Given the description of an element on the screen output the (x, y) to click on. 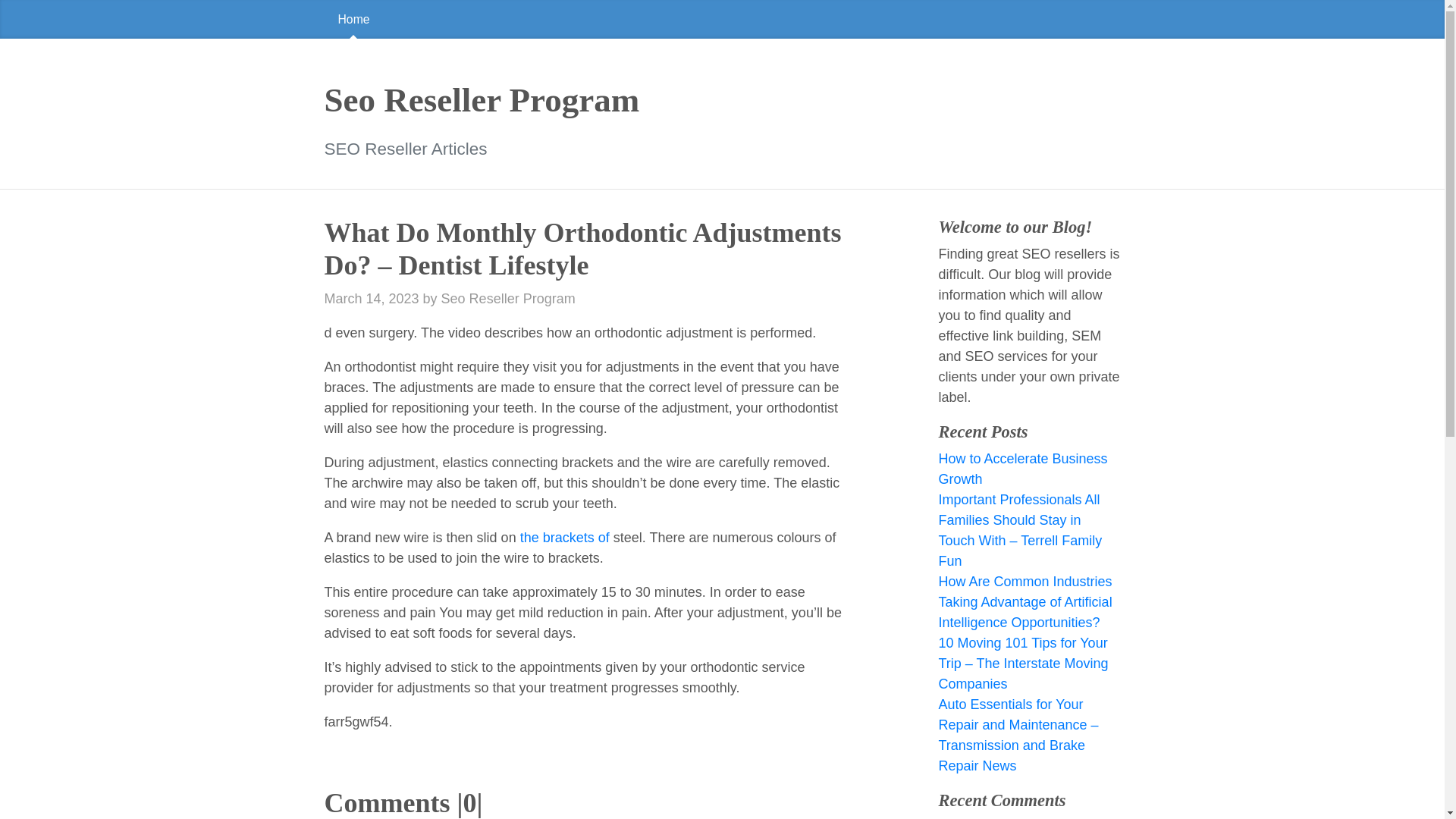
the brackets of (564, 537)
Home (722, 19)
How to Accelerate Business Growth (1021, 468)
Home (354, 19)
